Given the description of an element on the screen output the (x, y) to click on. 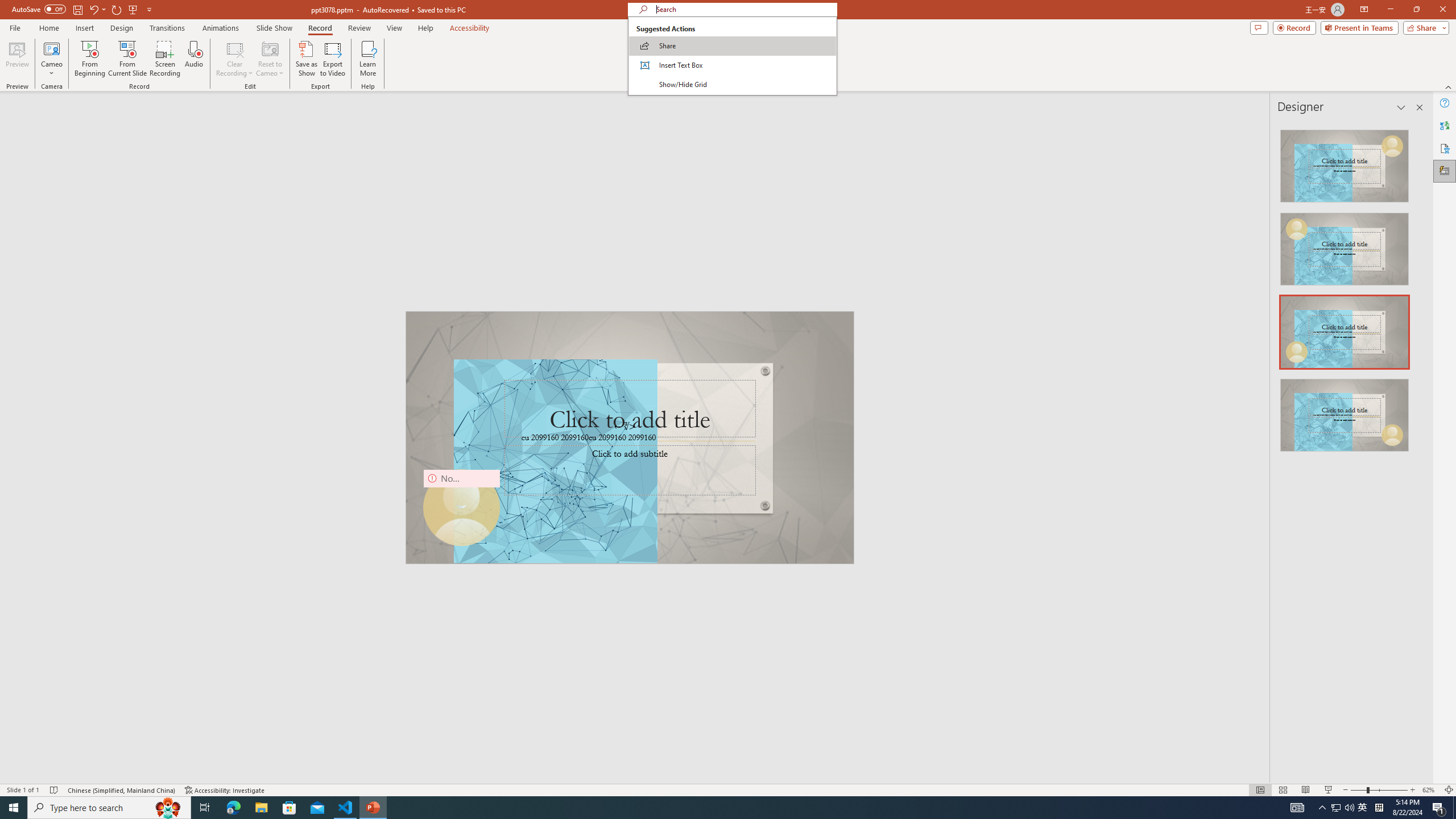
Zoom 62% (1430, 790)
